Given the description of an element on the screen output the (x, y) to click on. 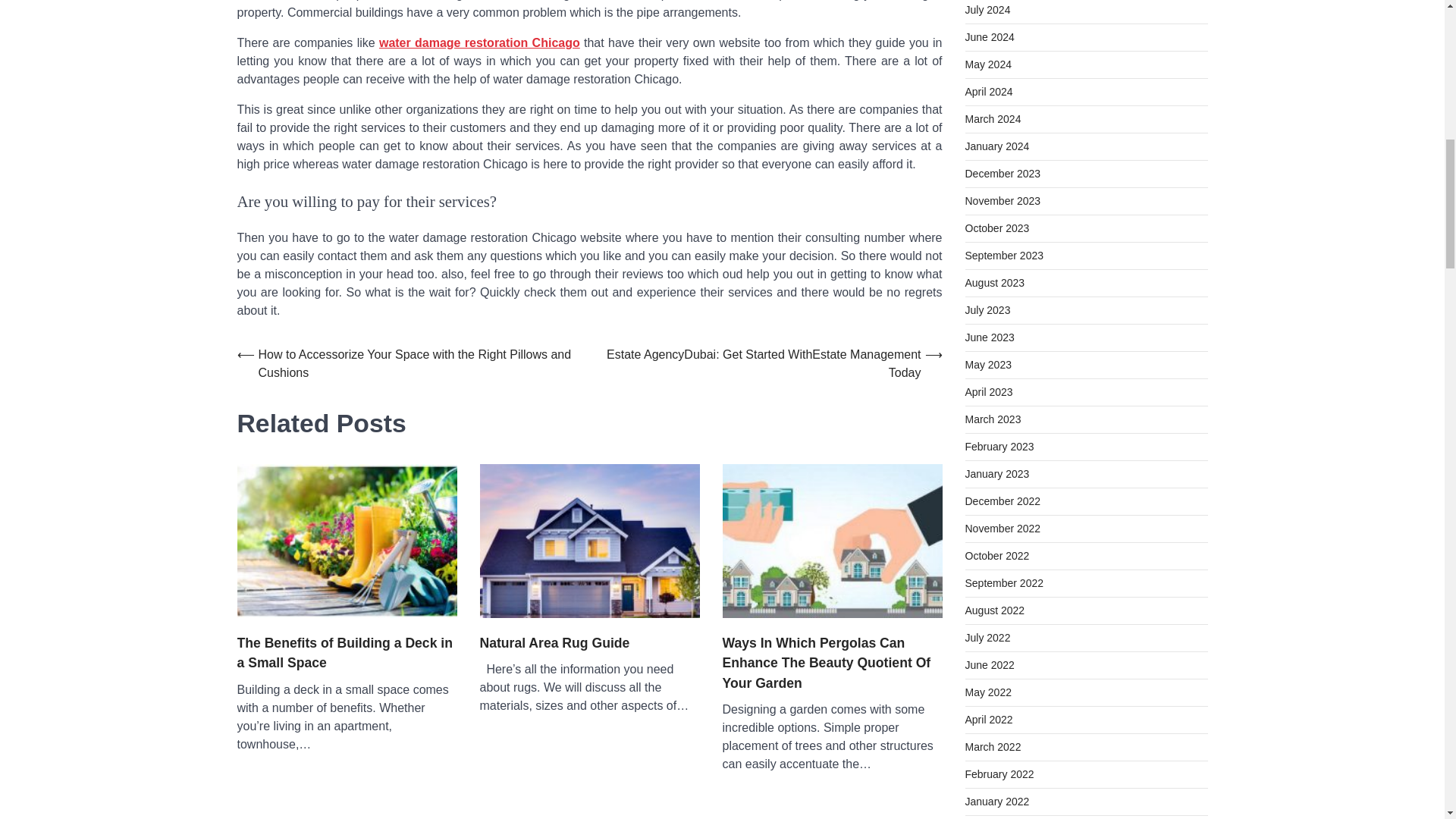
Natural Area Rug Guide (553, 642)
April 2024 (987, 91)
October 2023 (996, 227)
water damage restoration Chicago (478, 42)
July 2024 (986, 9)
December 2023 (1002, 173)
June 2024 (988, 37)
March 2024 (991, 119)
November 2023 (1002, 200)
The Benefits of Building a Deck in a Small Space (346, 653)
May 2024 (986, 64)
September 2023 (1003, 255)
January 2024 (996, 146)
